Given the description of an element on the screen output the (x, y) to click on. 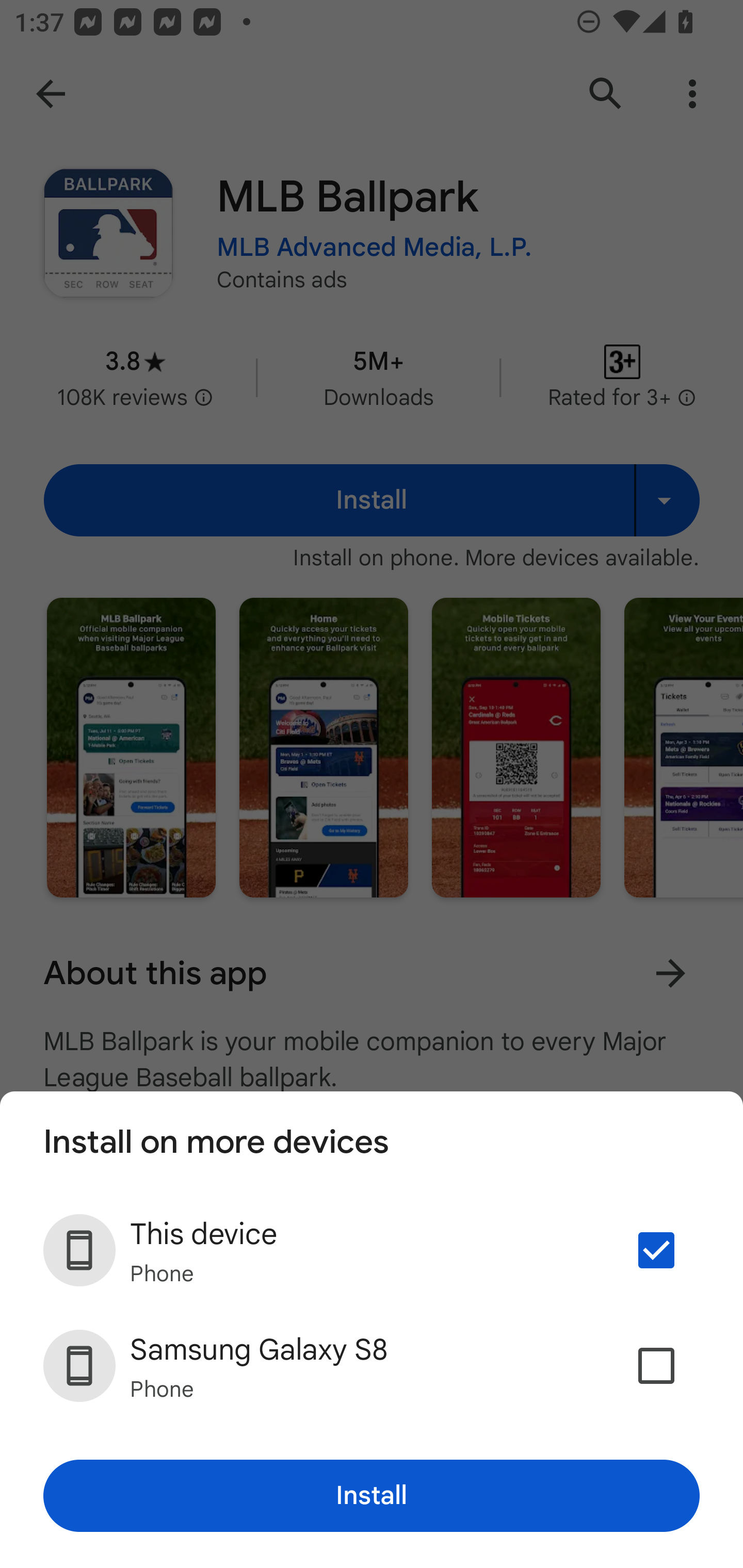
This device Phone (371, 1250)
Samsung Galaxy S8 Phone (371, 1365)
Install (371, 1495)
